Given the description of an element on the screen output the (x, y) to click on. 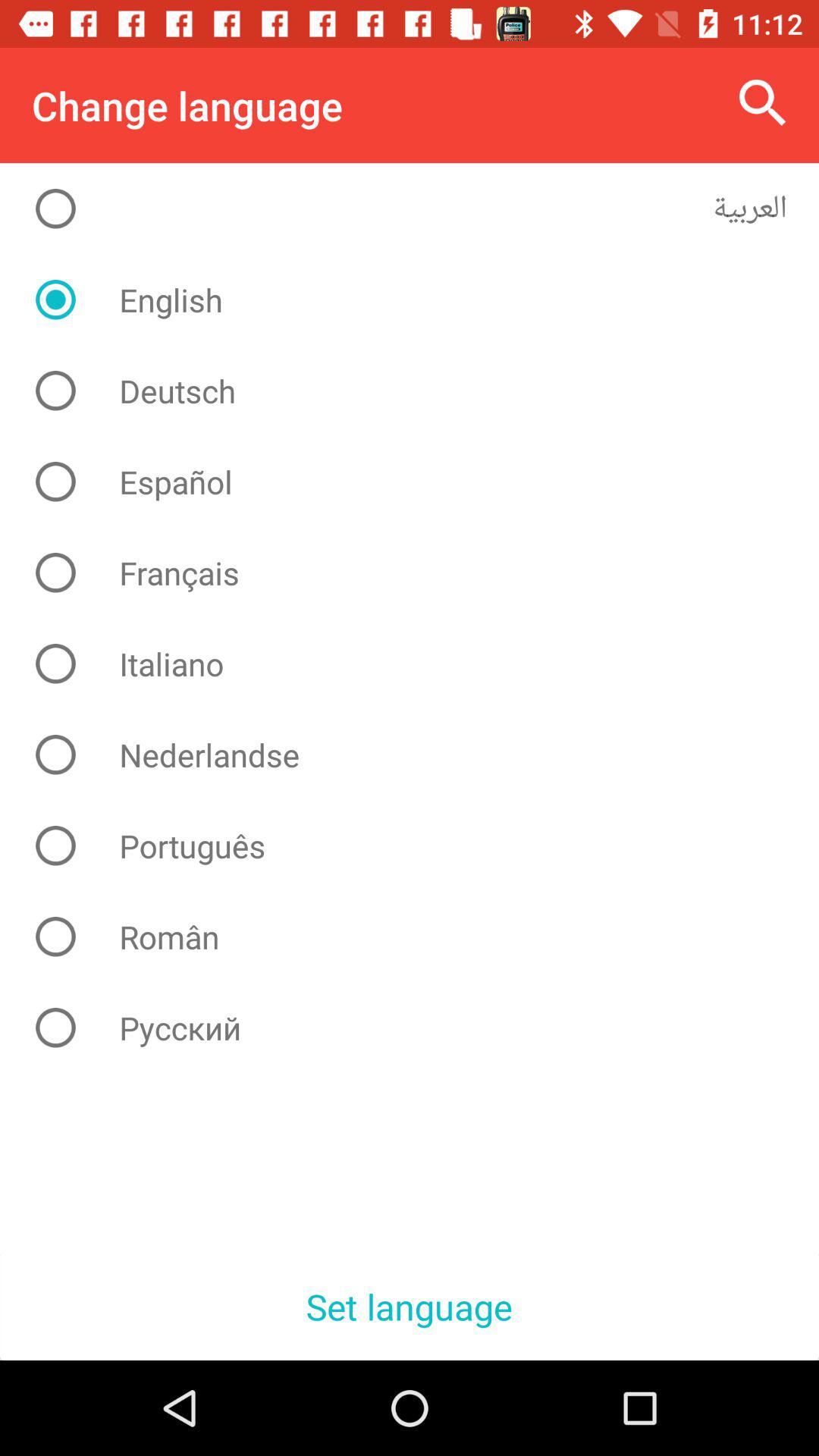
turn on the icon below the nederlandse icon (421, 845)
